Given the description of an element on the screen output the (x, y) to click on. 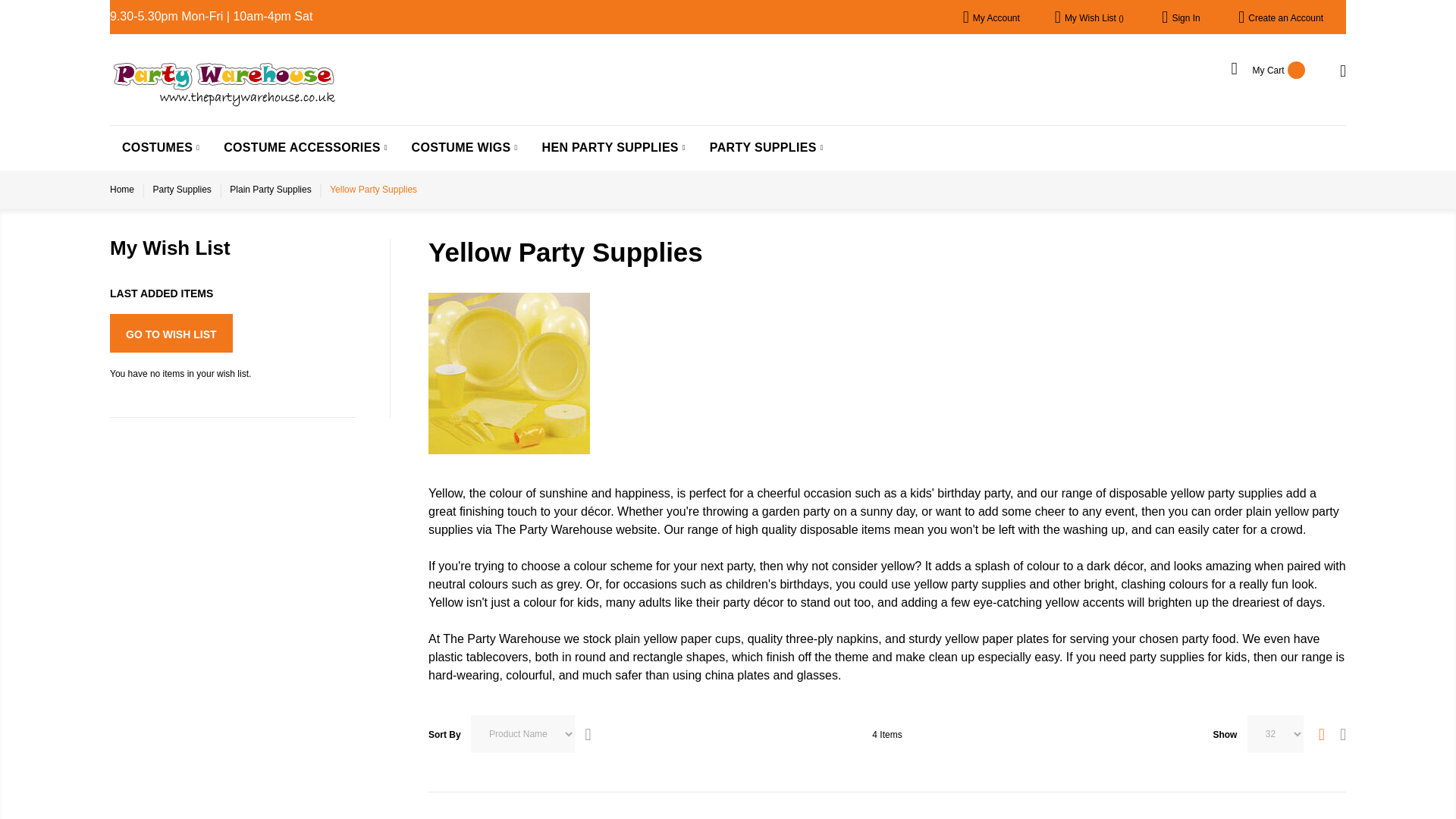
Party Warehouse logo (223, 63)
COSTUMES (160, 147)
COSTUME ACCESSORIES (305, 147)
Create an Account (1285, 18)
My Wish List (1094, 18)
My Cart (1267, 69)
Yellow Party Supplies (508, 373)
Go to Home Page (121, 189)
Sign In (1185, 18)
My Account (996, 18)
